Given the description of an element on the screen output the (x, y) to click on. 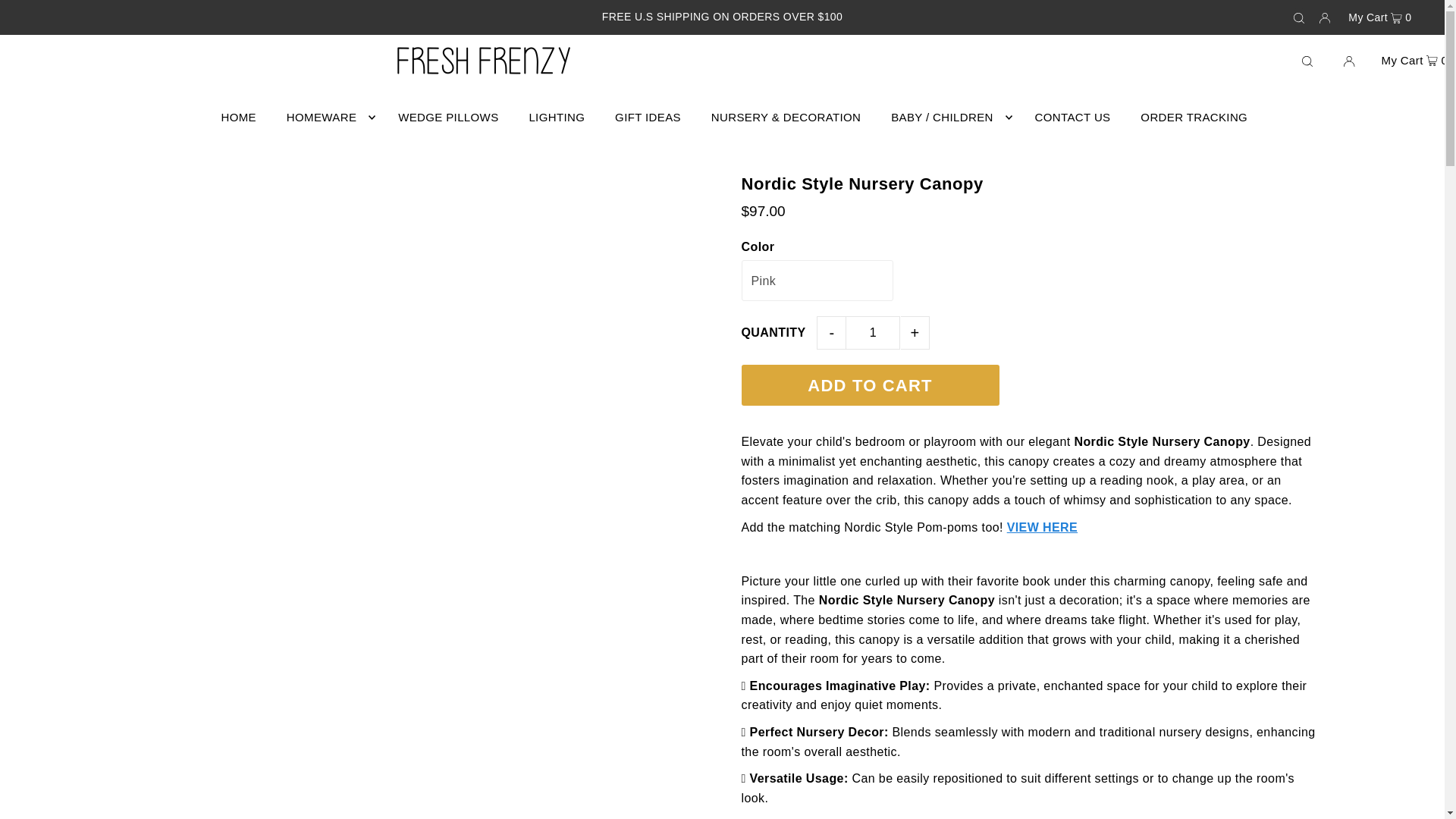
1 (872, 332)
HOMEWARE (327, 117)
HOME (237, 117)
Add to Cart (869, 384)
